Given the description of an element on the screen output the (x, y) to click on. 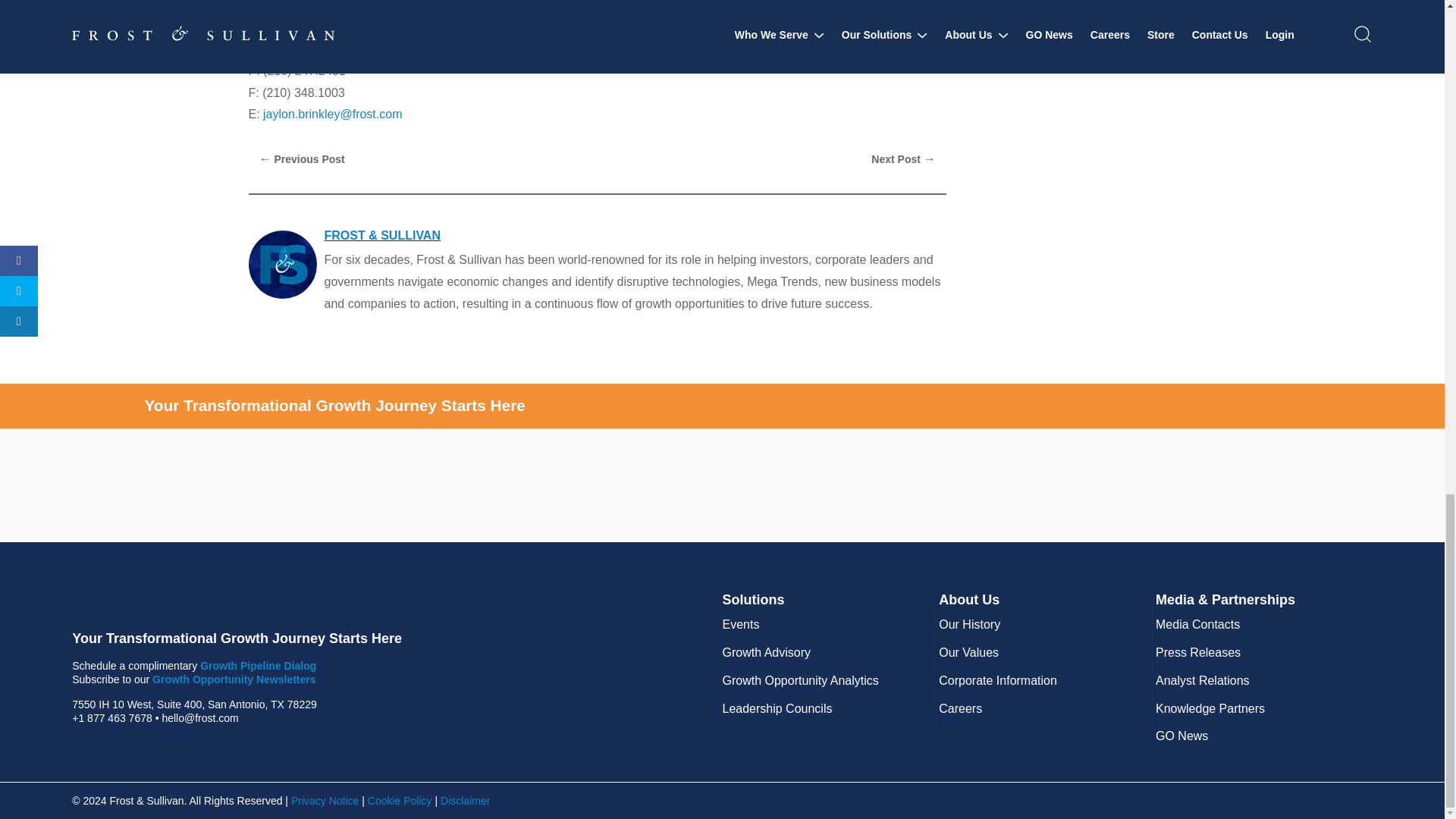
frostsullivanlogo (223, 601)
